Given the description of an element on the screen output the (x, y) to click on. 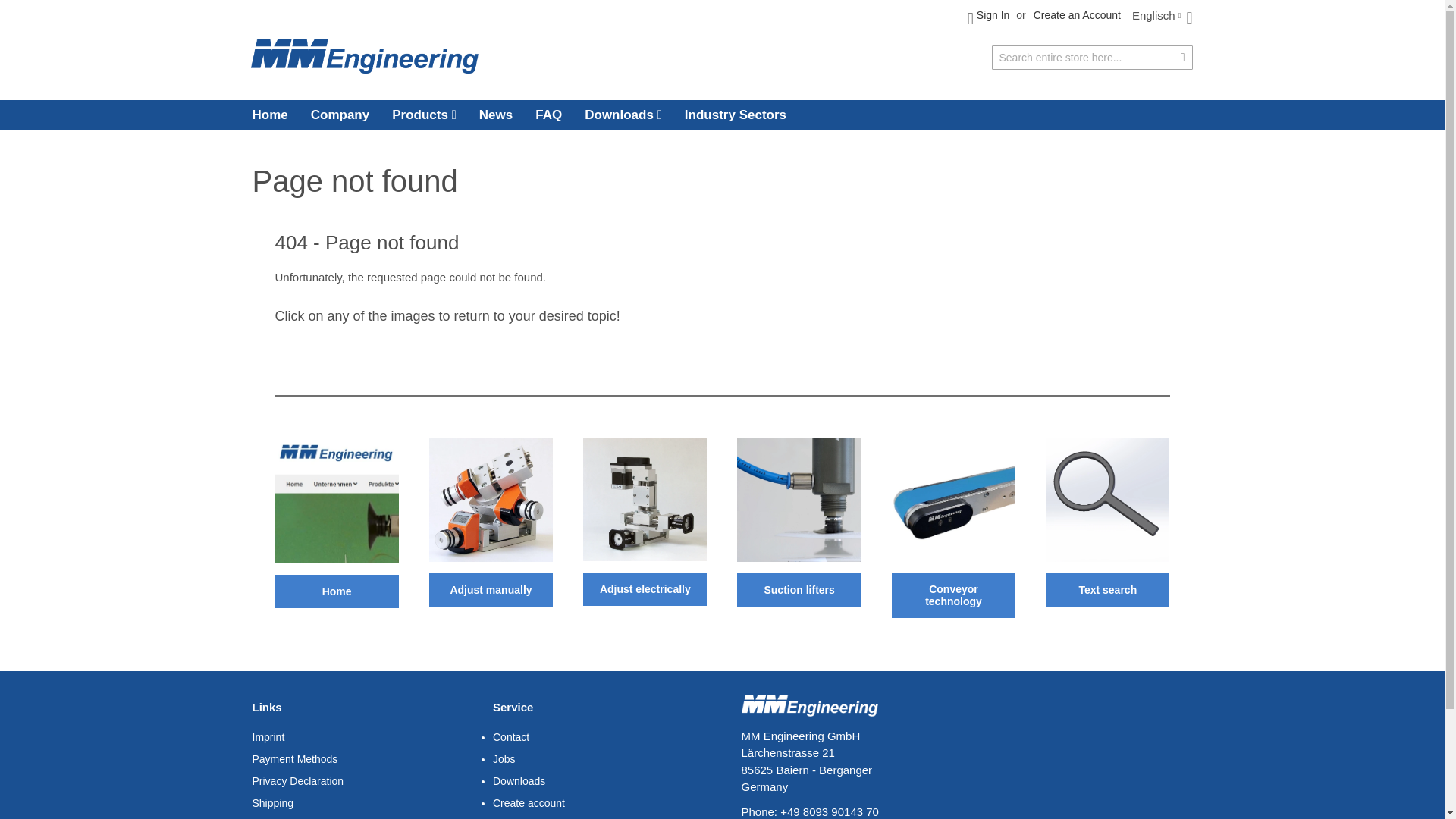
MM Engineering positioning systems (363, 56)
Home (274, 114)
Create an Account (1077, 15)
Sign In (989, 18)
Products (423, 114)
Company (339, 114)
